Given the description of an element on the screen output the (x, y) to click on. 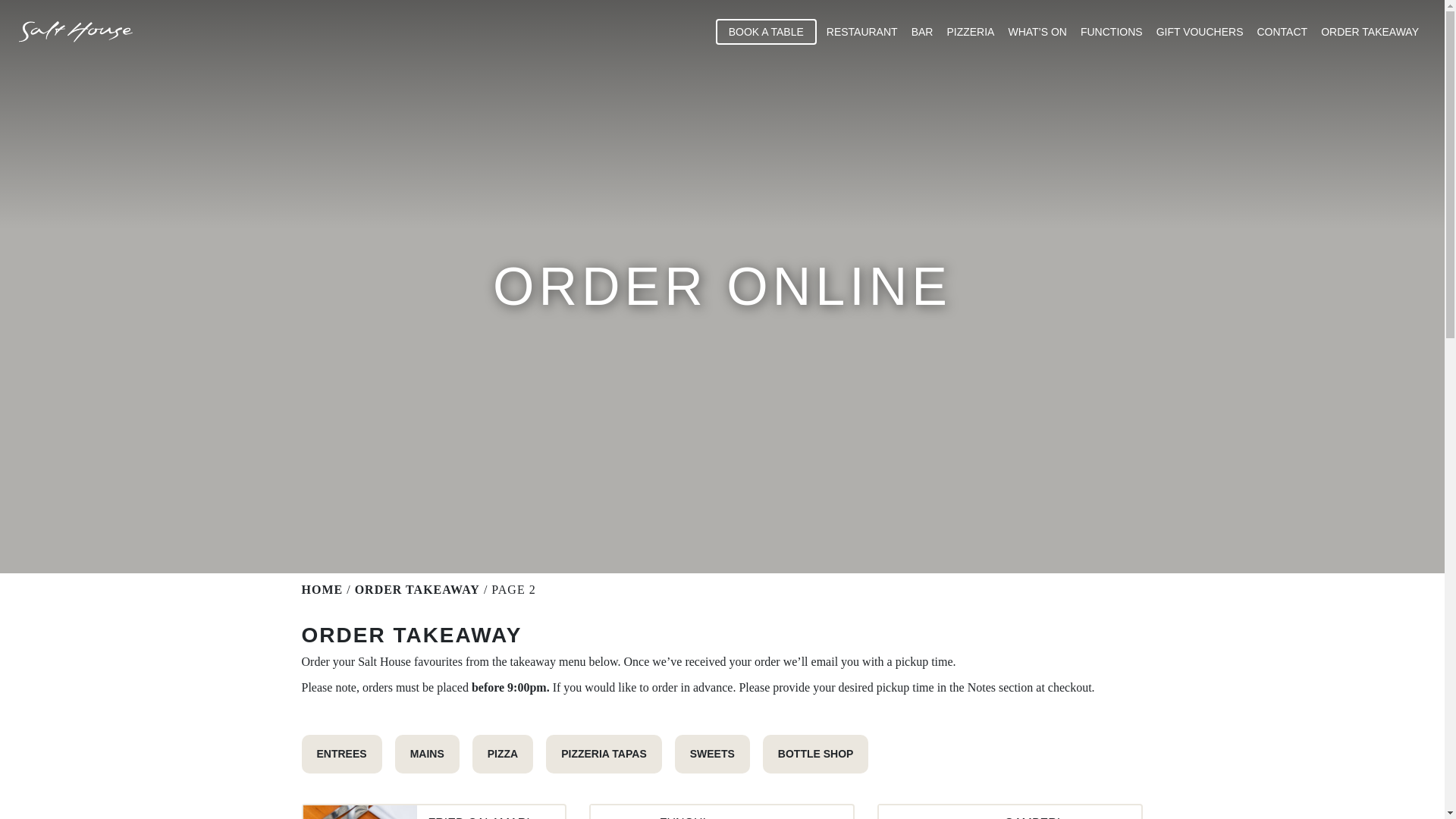
CONTACT (1281, 31)
HOME (322, 589)
ORDER TAKEAWAY (417, 589)
ENTREES (341, 753)
BOOK A TABLE (766, 31)
PIZZERIA (969, 31)
PIZZA (502, 753)
GIFT VOUCHERS (1200, 31)
RESTAURANT (861, 31)
ORDER TAKEAWAY (1369, 31)
